Given the description of an element on the screen output the (x, y) to click on. 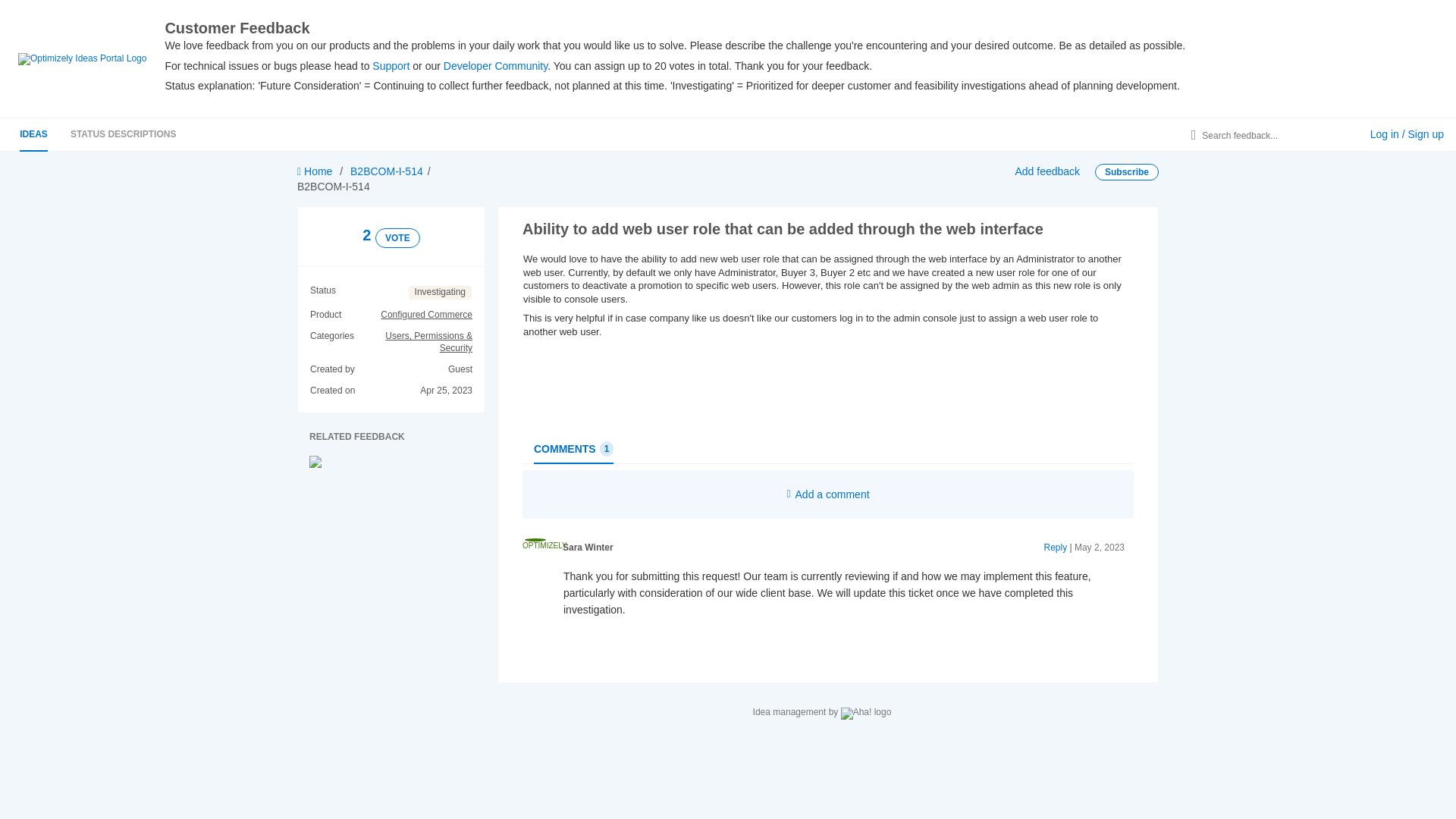
B2BCOM-I-514 (386, 171)
Support (390, 65)
Reply (1055, 547)
Add a comment (828, 494)
Investigating (440, 292)
STATUS DESCRIPTIONS (122, 133)
Add feedback (1047, 171)
Subscribe (1126, 171)
2 VOTE (390, 236)
Idea management by (821, 713)
